Given the description of an element on the screen output the (x, y) to click on. 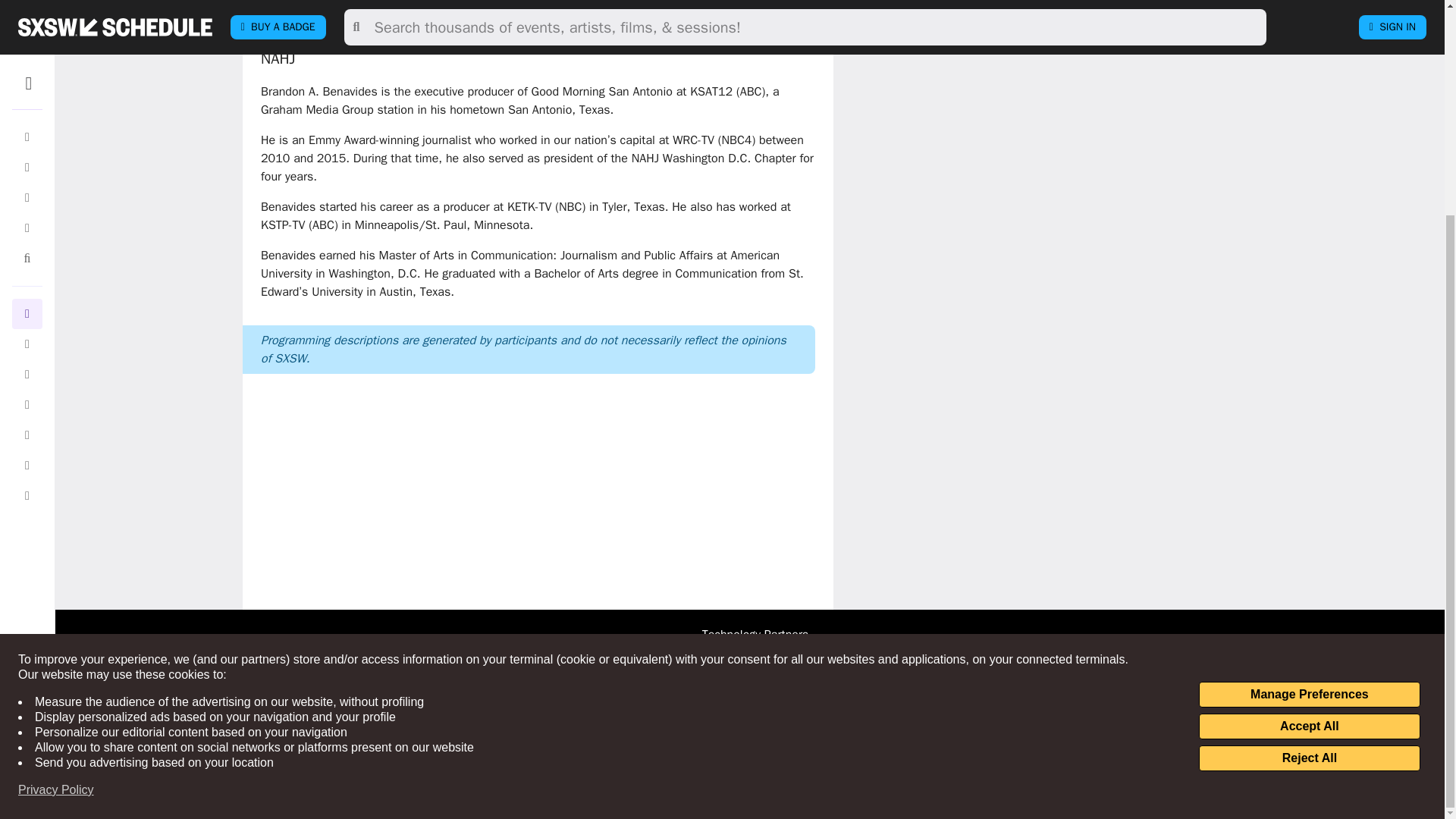
Accept All (1309, 444)
Privacy Policy (55, 507)
Manage Preferences (1309, 412)
Reject All (1309, 475)
